Given the description of an element on the screen output the (x, y) to click on. 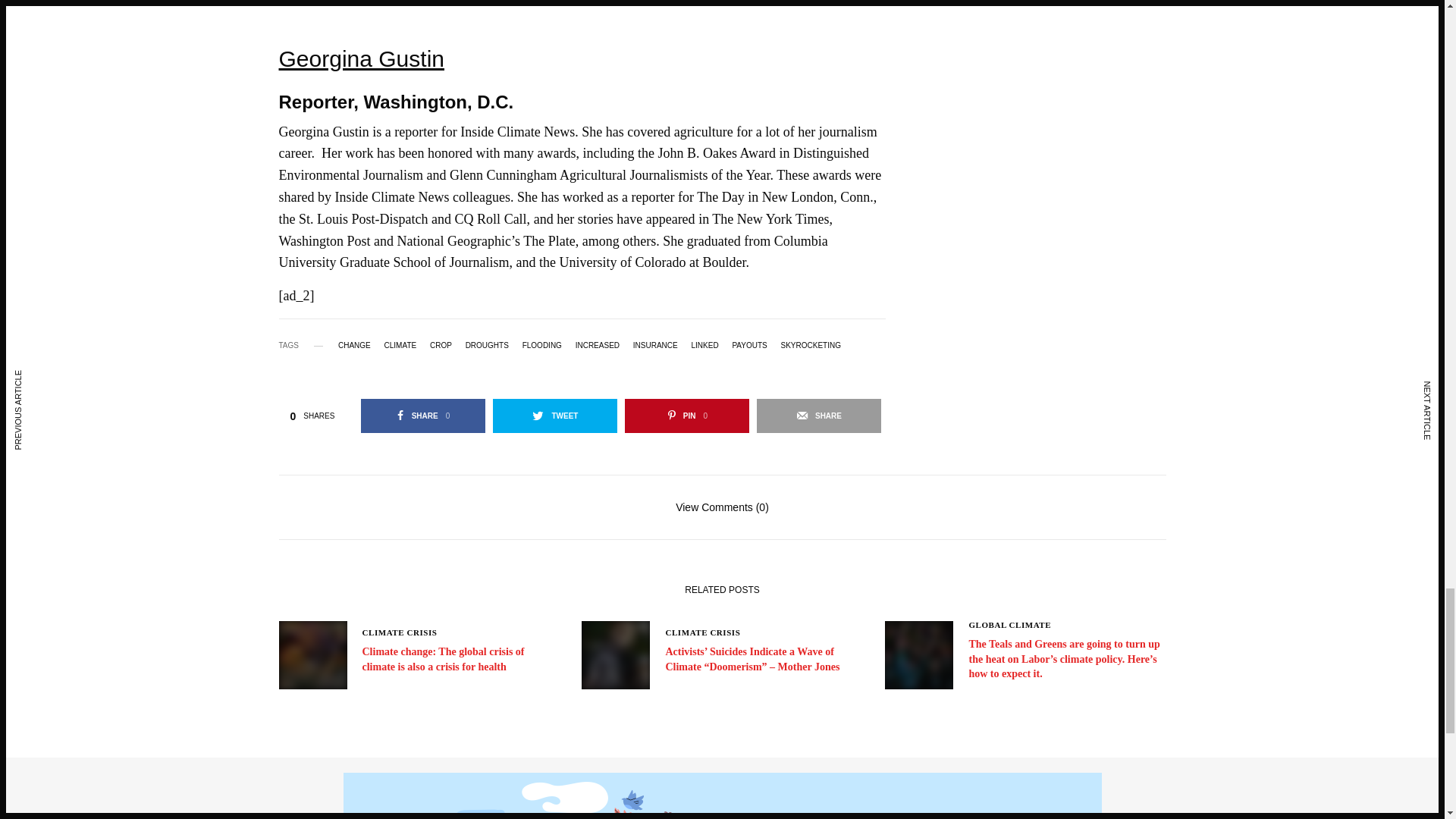
INCREASED (597, 345)
CLIMATE (400, 345)
INSURANCE (655, 345)
FLOODING (542, 345)
Georgina Gustin (361, 76)
DROUGHTS (486, 345)
CROP (440, 345)
CHANGE (354, 345)
